Given the description of an element on the screen output the (x, y) to click on. 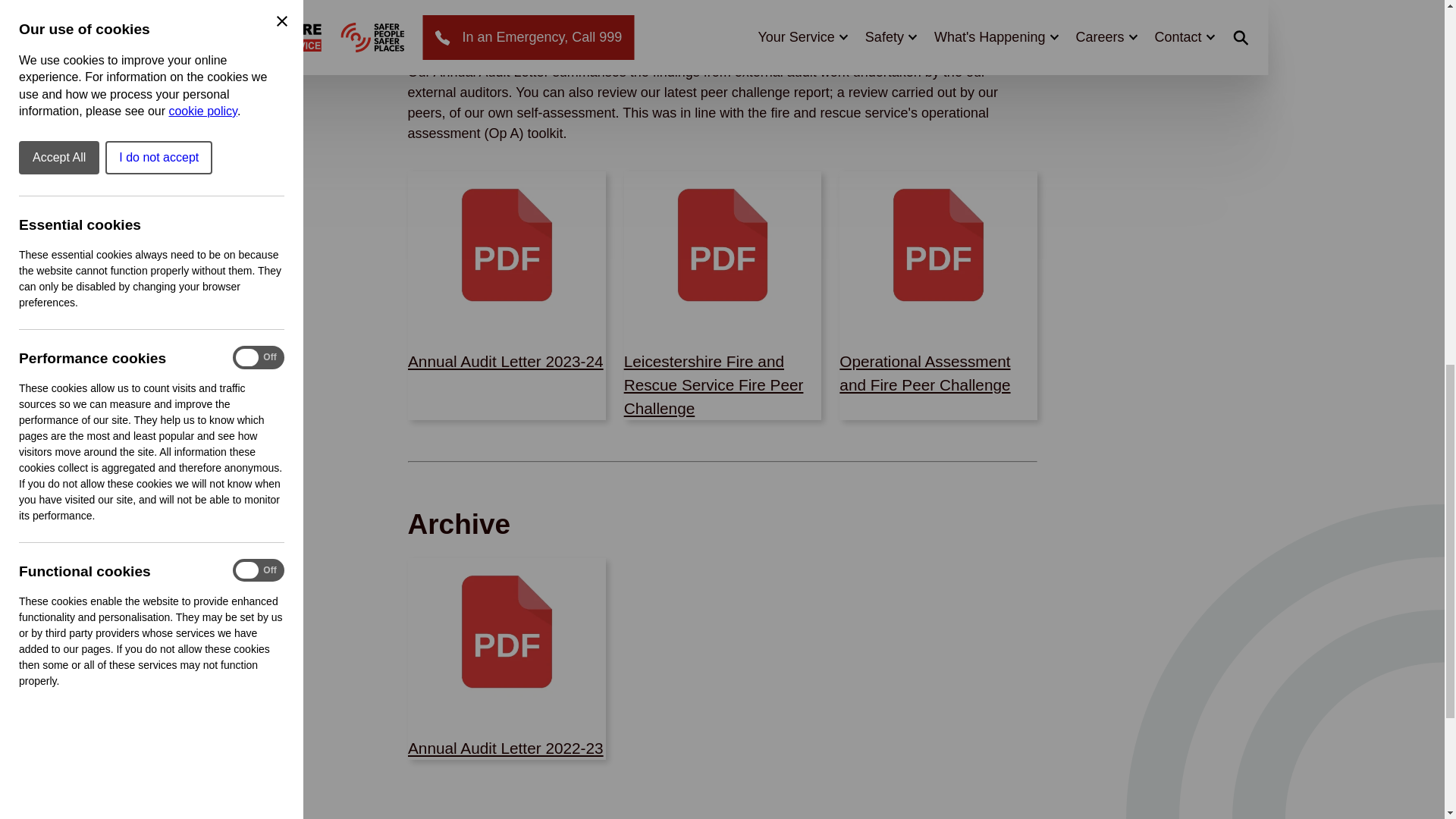
Leicestershire Fire and Rescue Service Fire Peer Challenge (713, 384)
Annual Audit Letter 2023-24 (506, 332)
Leicestershire Fire and Rescue Service Fire Peer Challenge (722, 332)
Annual Audit Letter 2023-24 (505, 361)
Annual Audit Letter 2022-23 (506, 718)
Operational Assessment and Fire Peer Challenge (938, 332)
Annual Audit Letter 2022-23 (505, 746)
Operational Assessment and Fire Peer Challenge (925, 372)
